Given the description of an element on the screen output the (x, y) to click on. 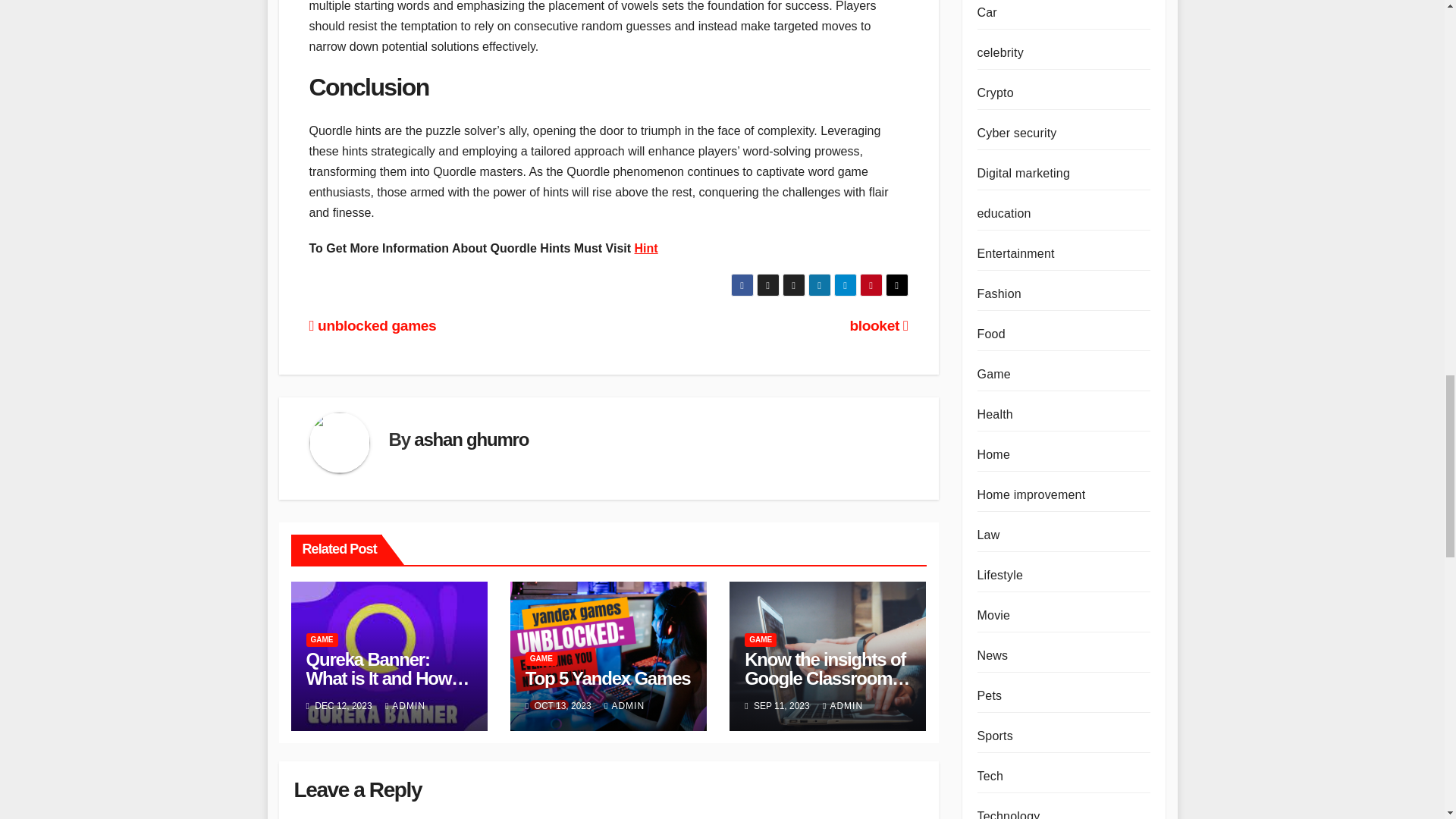
unblocked games (372, 325)
Hint (646, 247)
Permalink to: Know the insights of Google Classroom 6x game! (827, 678)
blooket (877, 325)
Permalink to: Top 5 Yandex Games (607, 678)
